Given the description of an element on the screen output the (x, y) to click on. 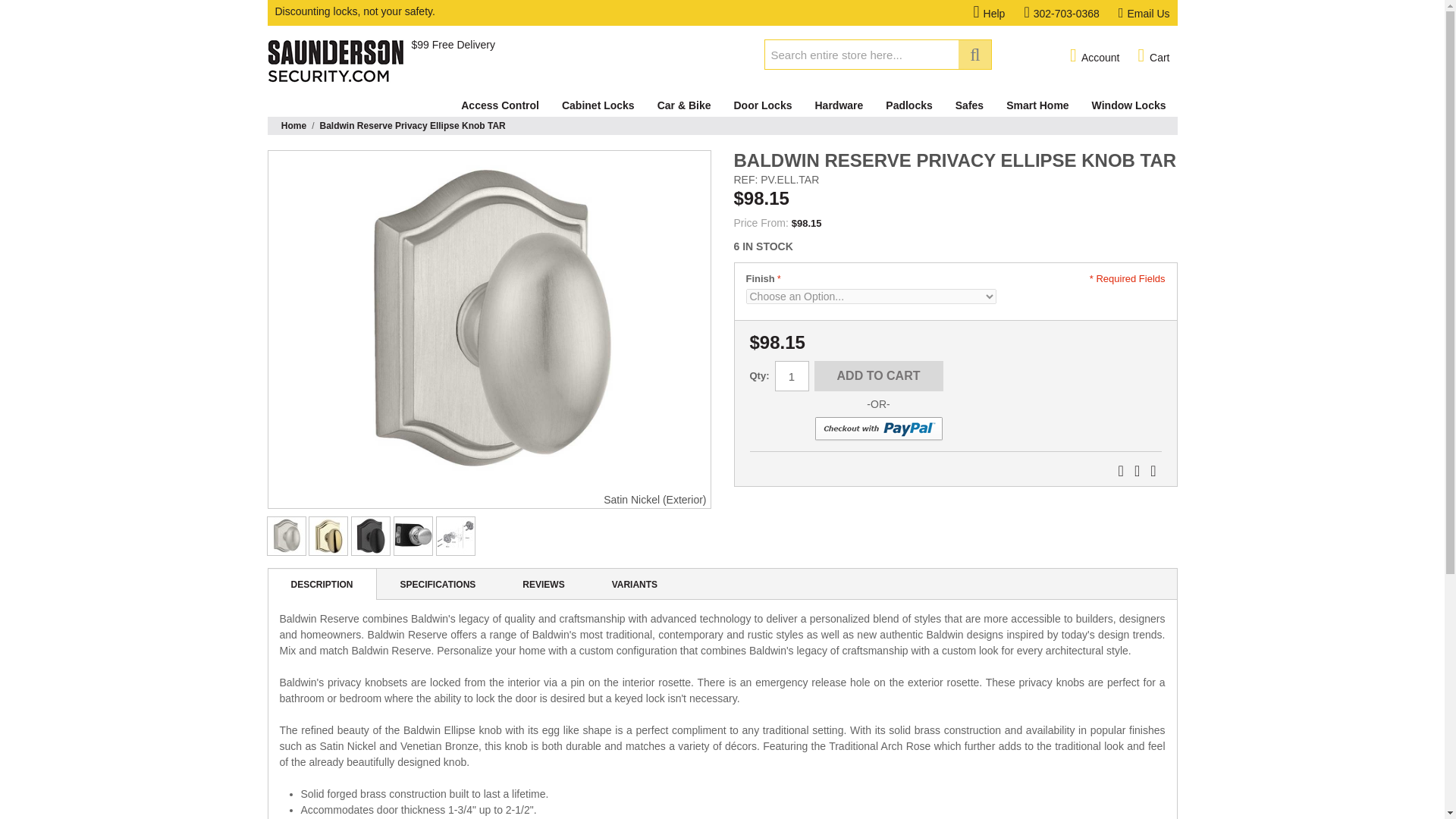
See Delivery Terms (452, 44)
Cart (1152, 55)
Search (974, 54)
Go to Home Page (293, 126)
Cabinet Locks (598, 105)
Help (999, 13)
Access Control (499, 105)
Door Locks (762, 105)
1 (791, 376)
Email Us (1144, 13)
Typical Privacy Knob Interior (412, 536)
Account (1094, 55)
Help (999, 13)
